Given the description of an element on the screen output the (x, y) to click on. 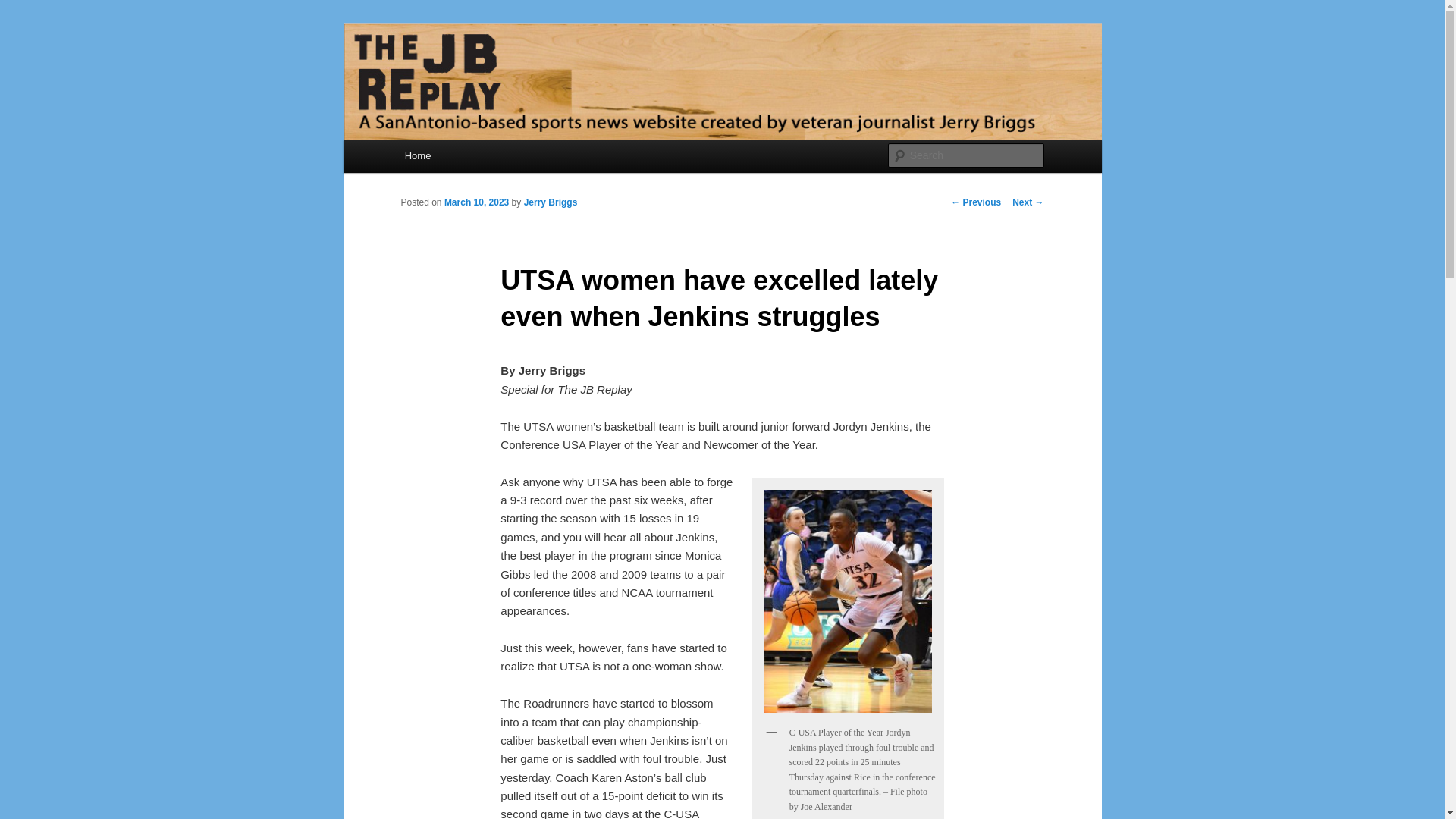
8:21 am (476, 202)
Jerry Briggs (551, 202)
The JB Replay (478, 78)
View all posts by Jerry Briggs (551, 202)
March 10, 2023 (476, 202)
Home (417, 155)
Search (24, 8)
